Given the description of an element on the screen output the (x, y) to click on. 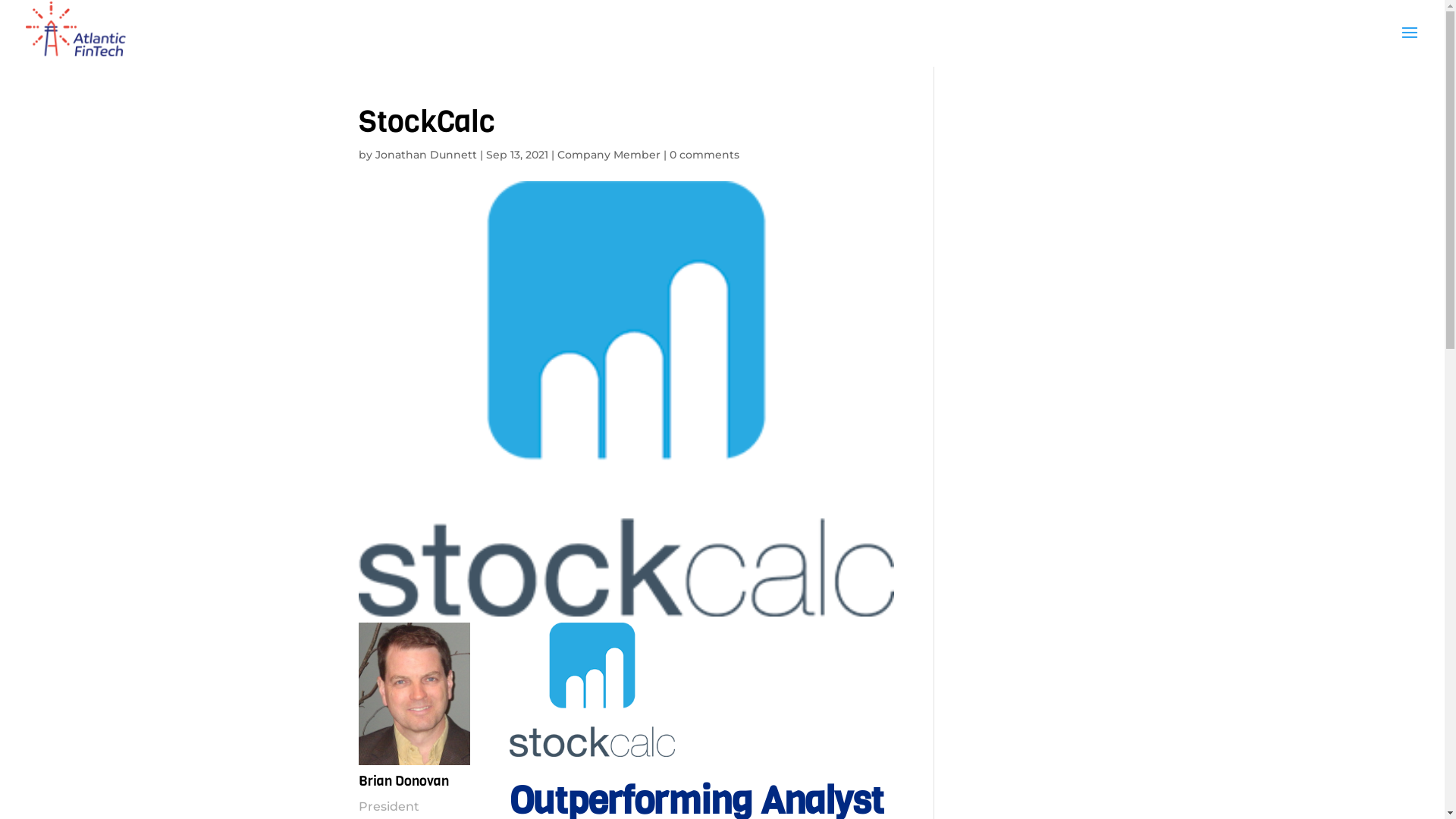
Company Member Element type: text (607, 154)
Jonathan Dunnett Element type: text (425, 154)
0 comments Element type: text (703, 154)
